Given the description of an element on the screen output the (x, y) to click on. 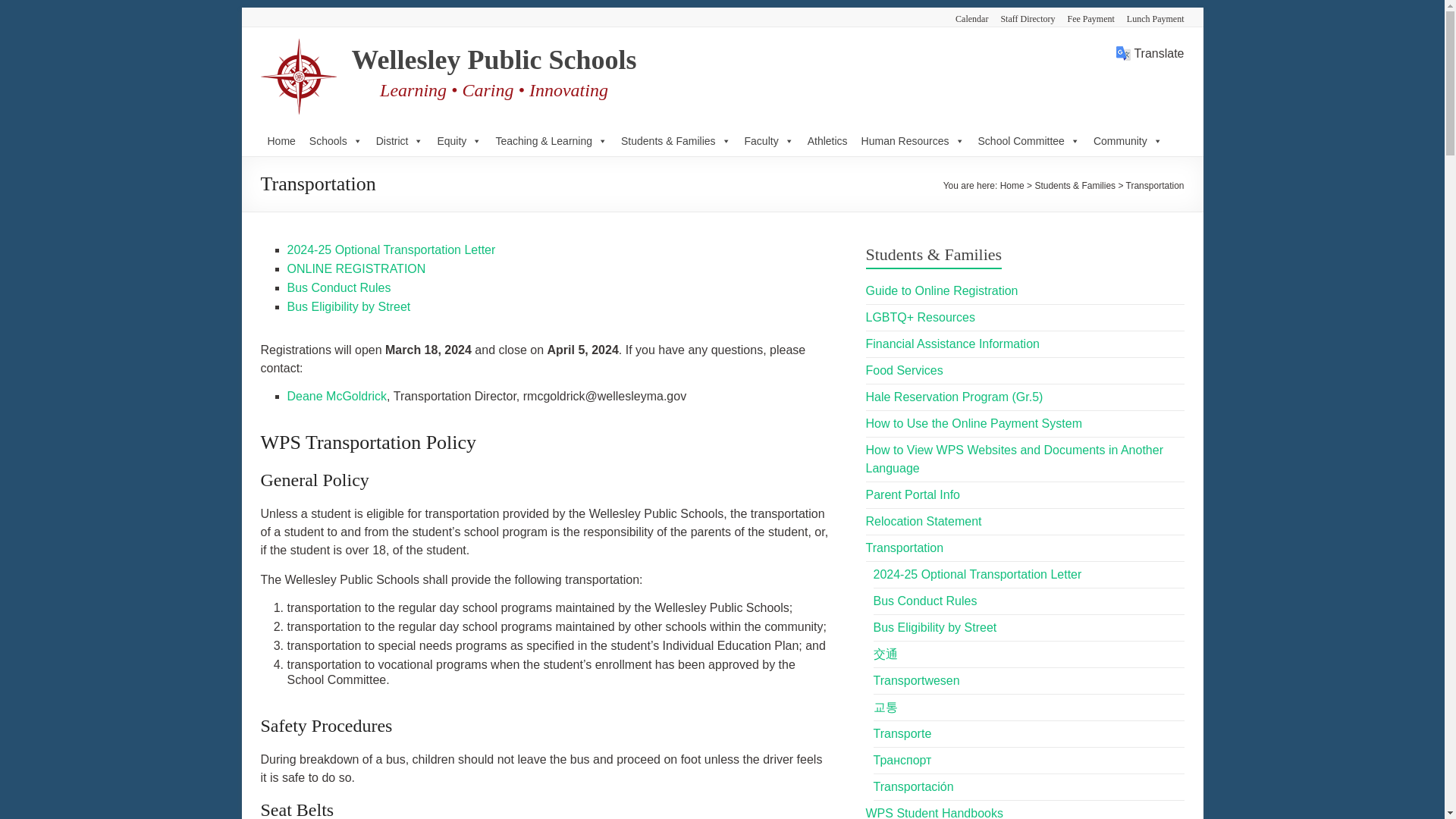
Lunch Payment (1150, 16)
Wellesley Public Schools (494, 60)
Schools (335, 141)
Wellesley Public Schools (494, 60)
District (399, 141)
Calendar (965, 16)
Staff Directory (1021, 16)
Go to Wellesley Public Schools. (1012, 185)
Fee Payment (1085, 16)
Home (281, 141)
